Given the description of an element on the screen output the (x, y) to click on. 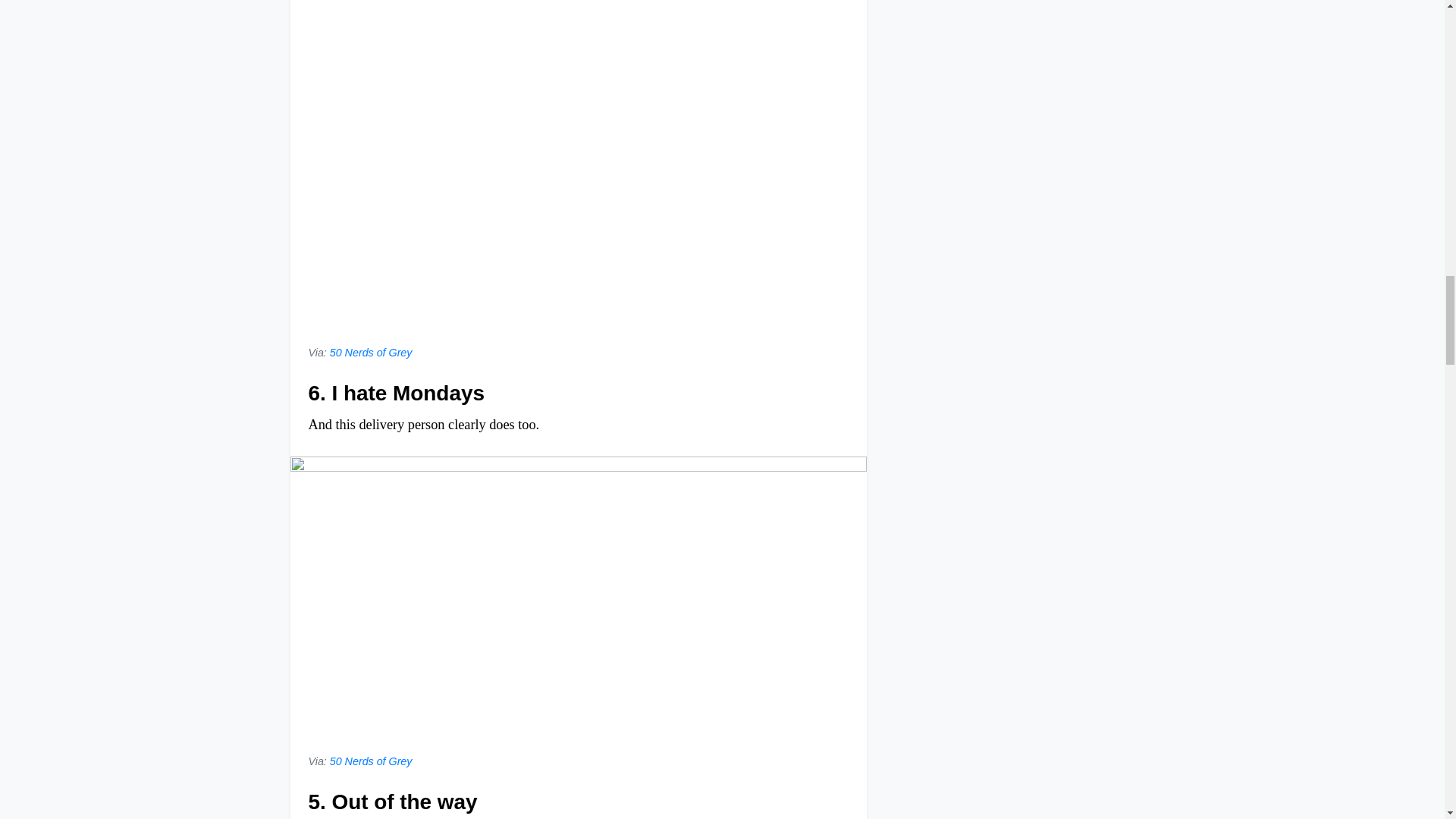
50 Nerds of Grey (371, 761)
50 Nerds of Grey (371, 352)
